Given the description of an element on the screen output the (x, y) to click on. 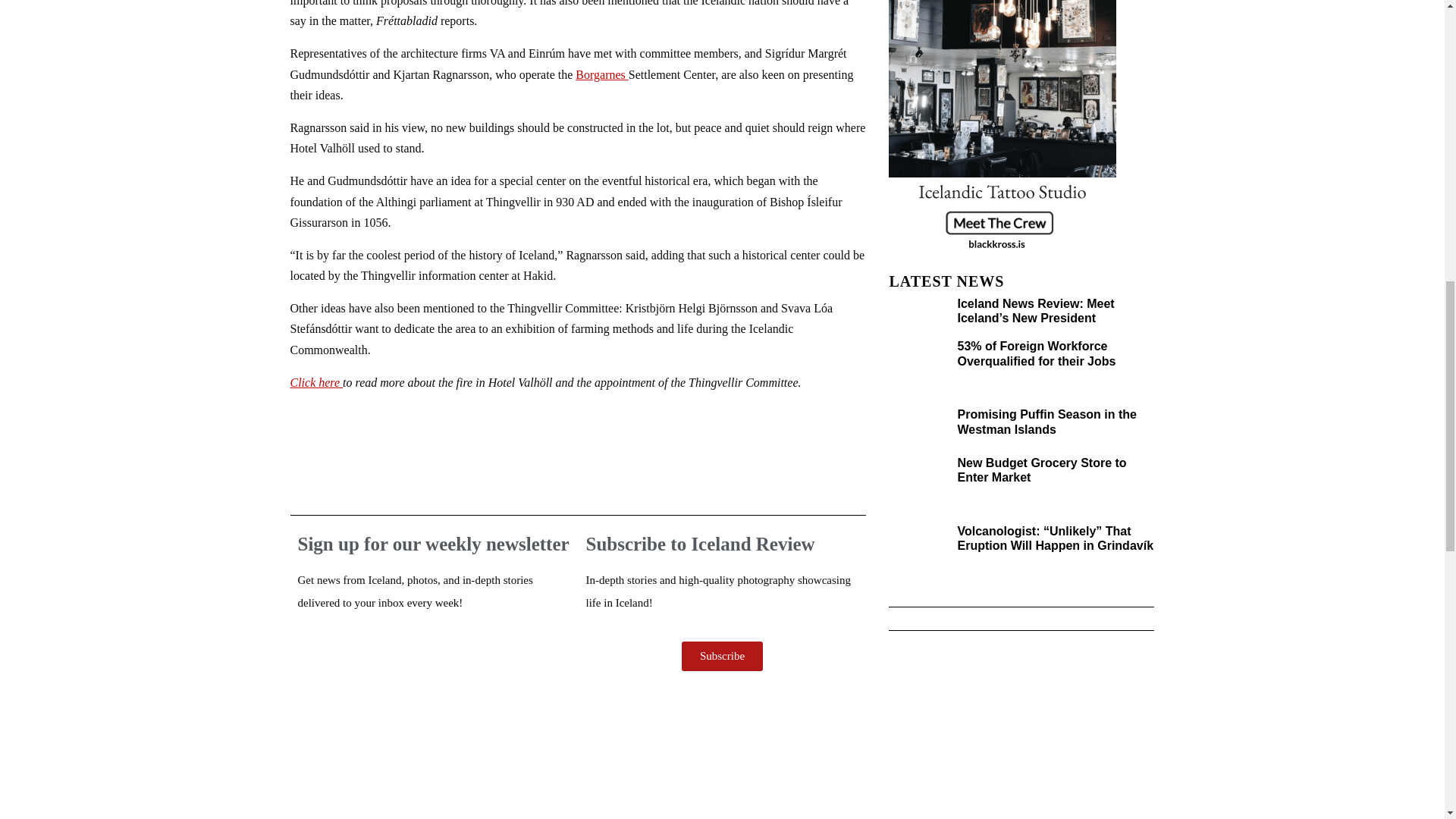
Promising Puffin Season in the Westman Islands (1045, 420)
New Budget Grocery Store to Enter Market (1040, 470)
